Given the description of an element on the screen output the (x, y) to click on. 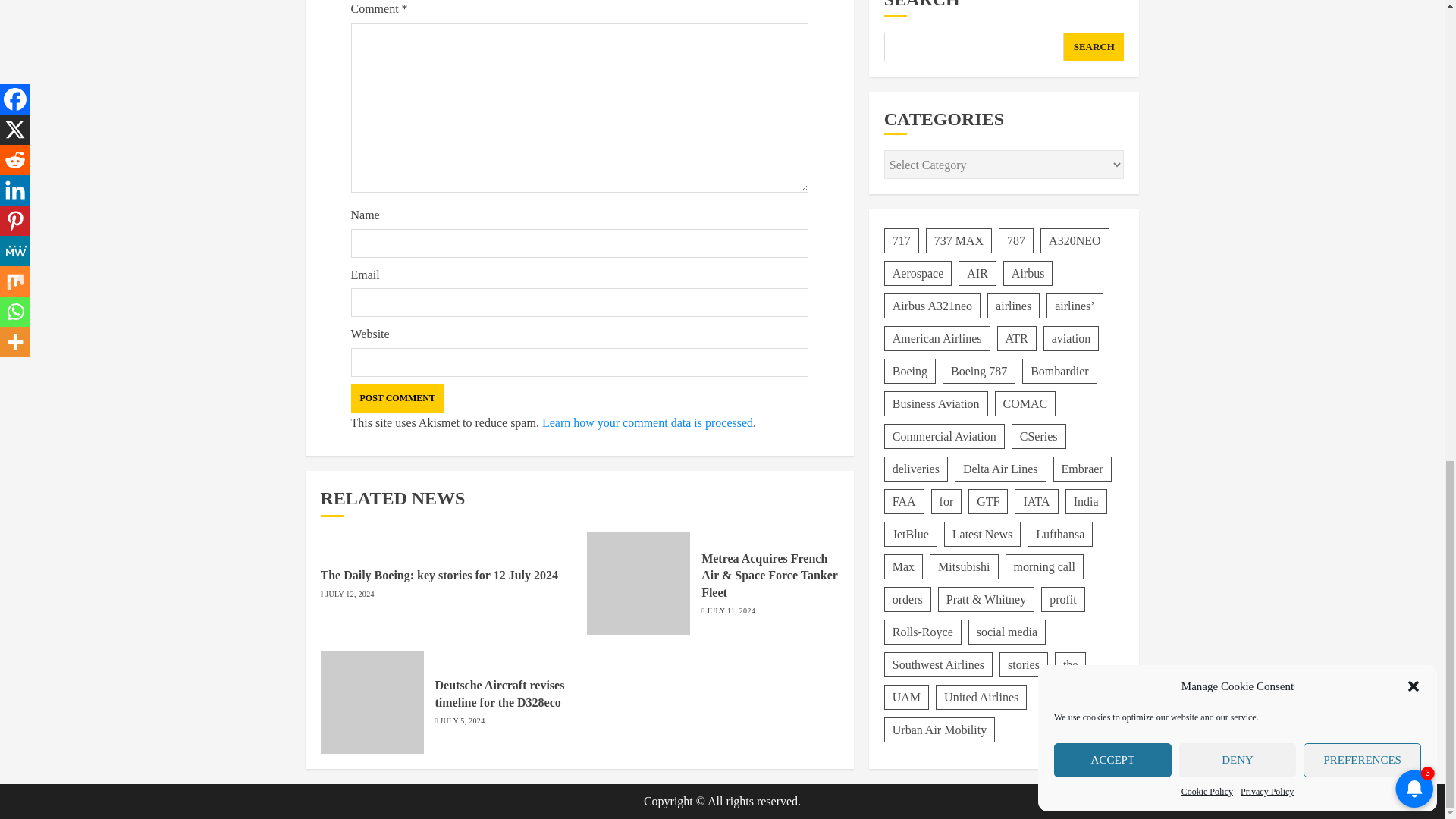
Post Comment (397, 398)
